Given the description of an element on the screen output the (x, y) to click on. 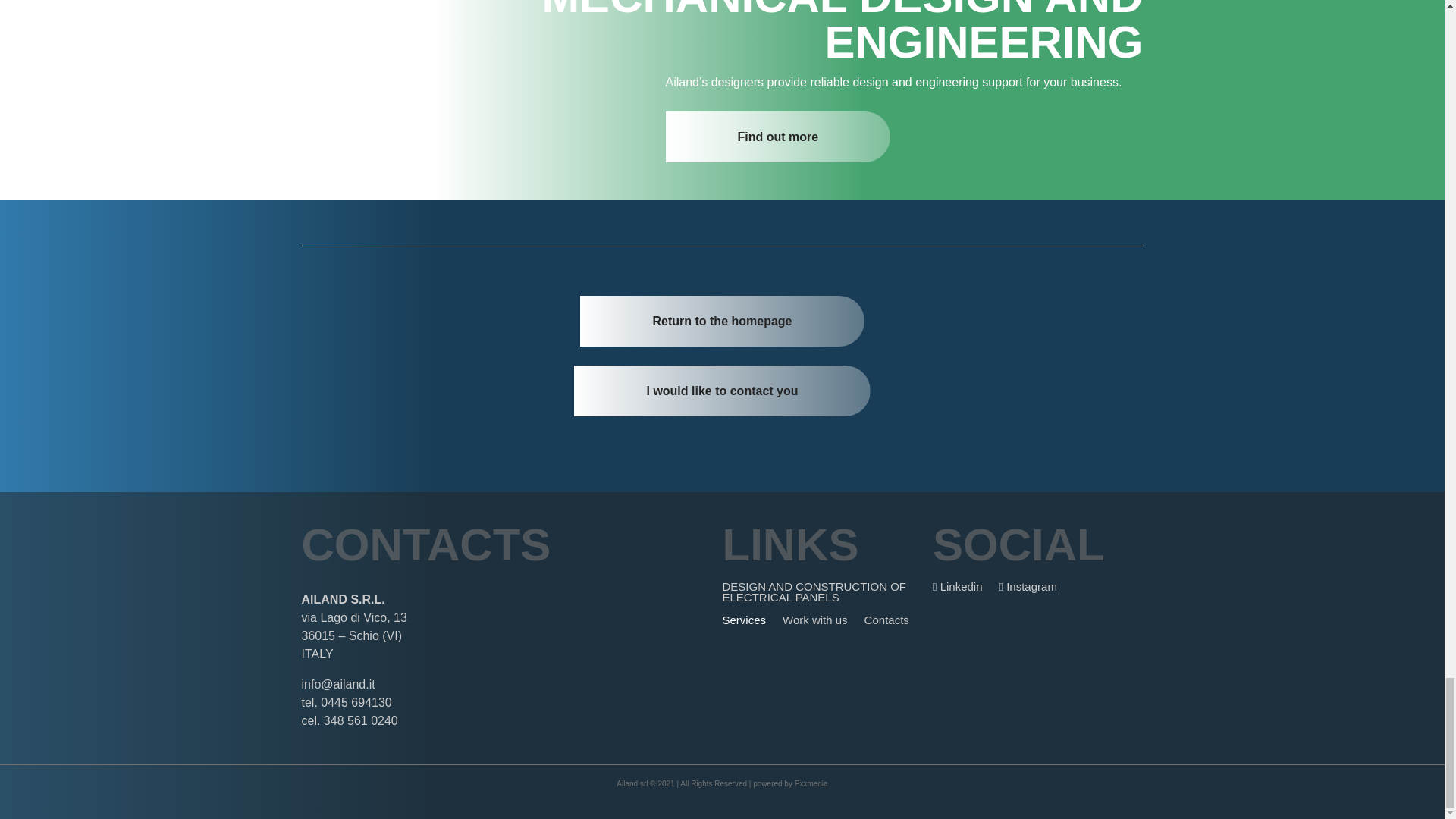
I would like to contact you (721, 390)
Linkedin (957, 589)
DESIGN AND CONSTRUCTION OF ELECTRICAL PANELS (827, 595)
Contacts (886, 623)
Find out more (778, 136)
Services (743, 623)
Instagram (1027, 589)
Return to the homepage (721, 320)
Work with us (815, 623)
